Given the description of an element on the screen output the (x, y) to click on. 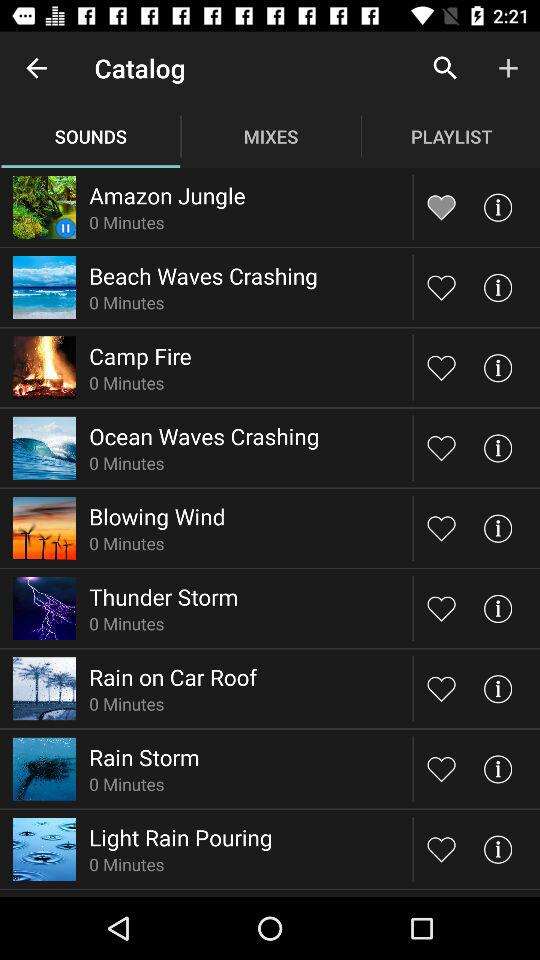
check information (498, 206)
